Given the description of an element on the screen output the (x, y) to click on. 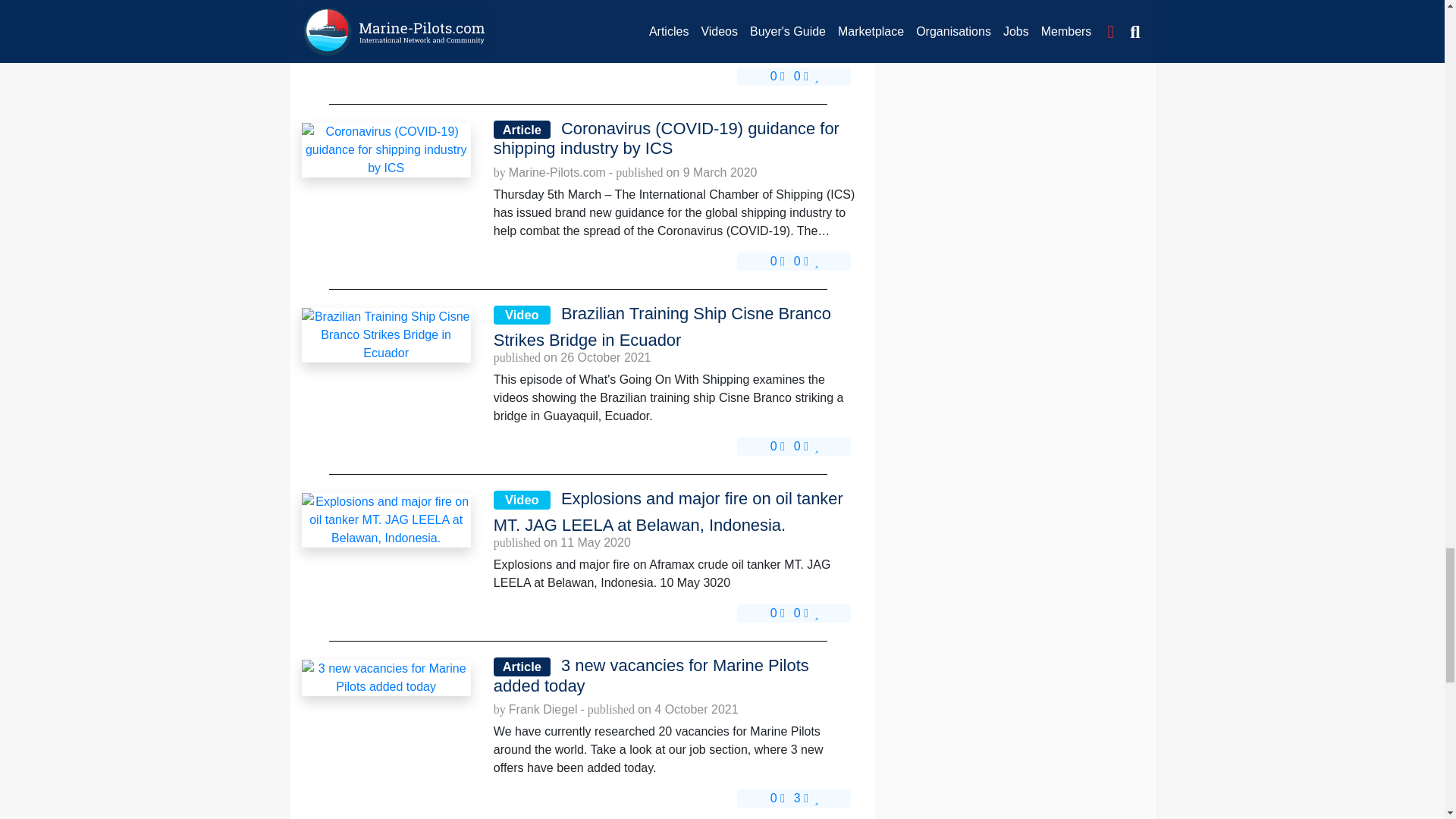
3 new vacancies for Marine Pilots added today (674, 676)
3 new vacancies for Marine Pilots added today (385, 676)
3 new vacancies for Marine Pilots added today (385, 678)
